Given the description of an element on the screen output the (x, y) to click on. 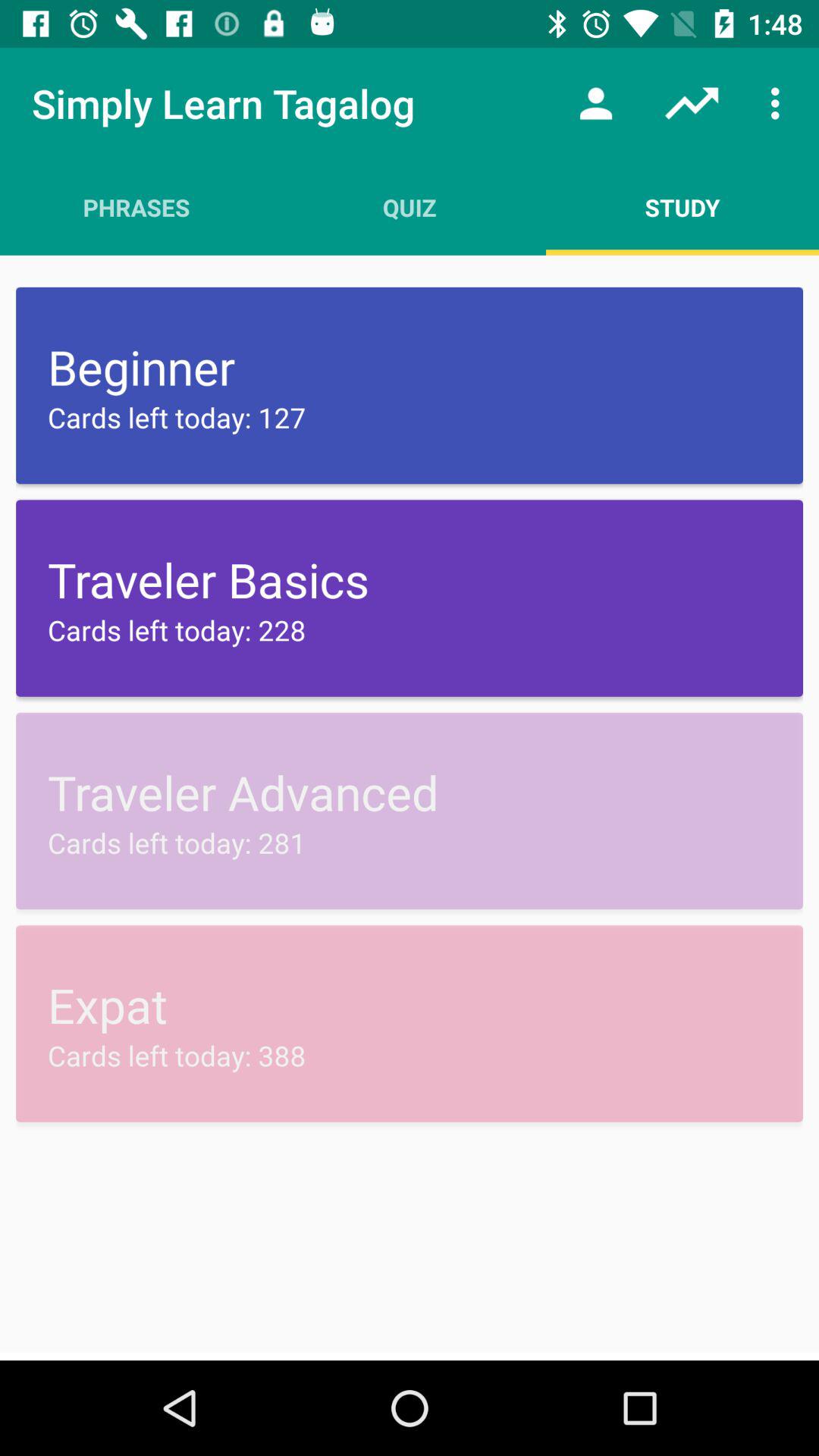
press the app next to the quiz app (595, 103)
